Given the description of an element on the screen output the (x, y) to click on. 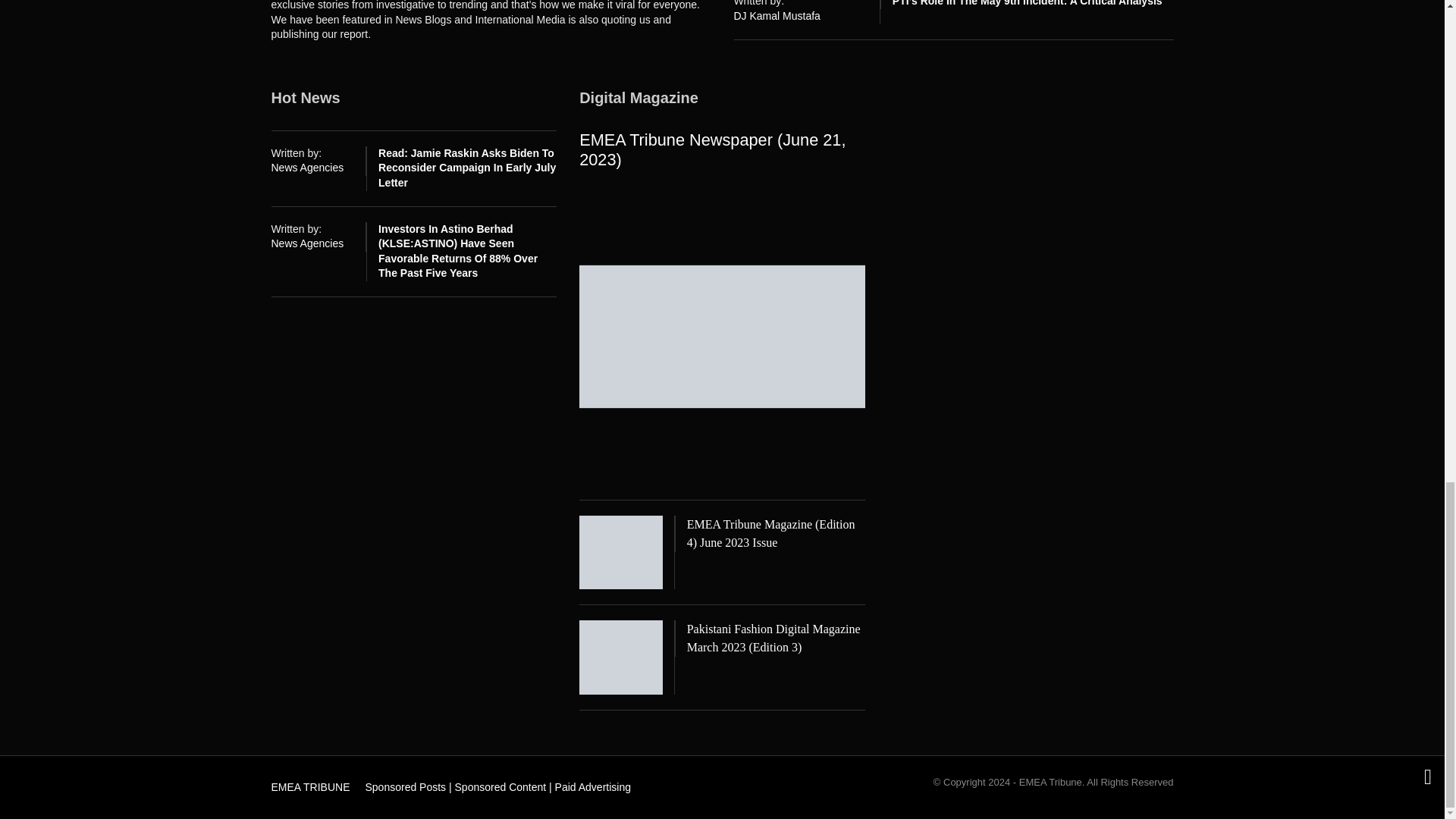
Skip to content (303, 782)
